Given the description of an element on the screen output the (x, y) to click on. 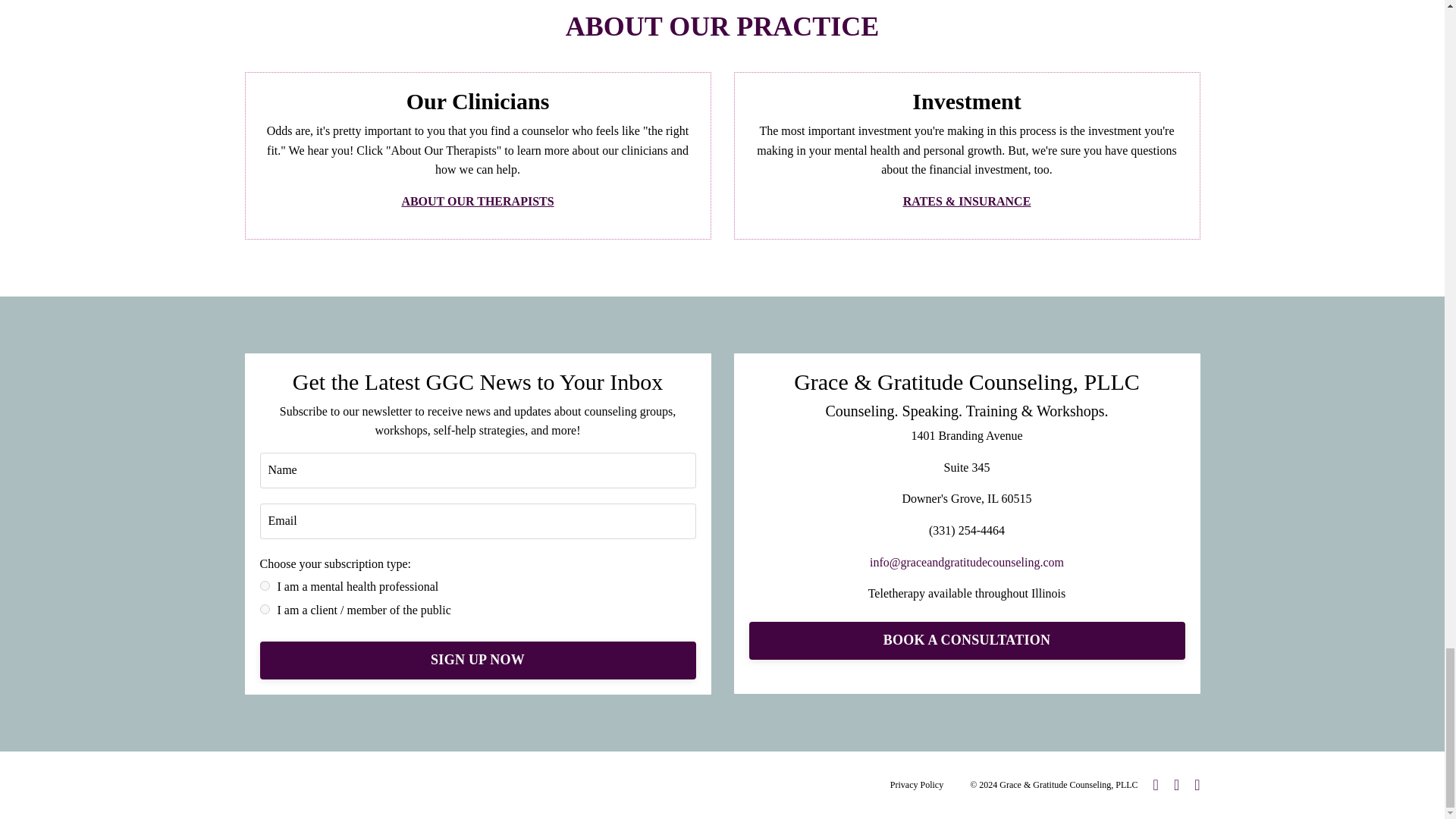
BOOK A CONSULTATION (967, 640)
ABOUT OUR THERAPISTS (477, 201)
SIGN UP NOW (477, 660)
Privacy Policy (916, 784)
I am a mental health professional (264, 585)
